Given the description of an element on the screen output the (x, y) to click on. 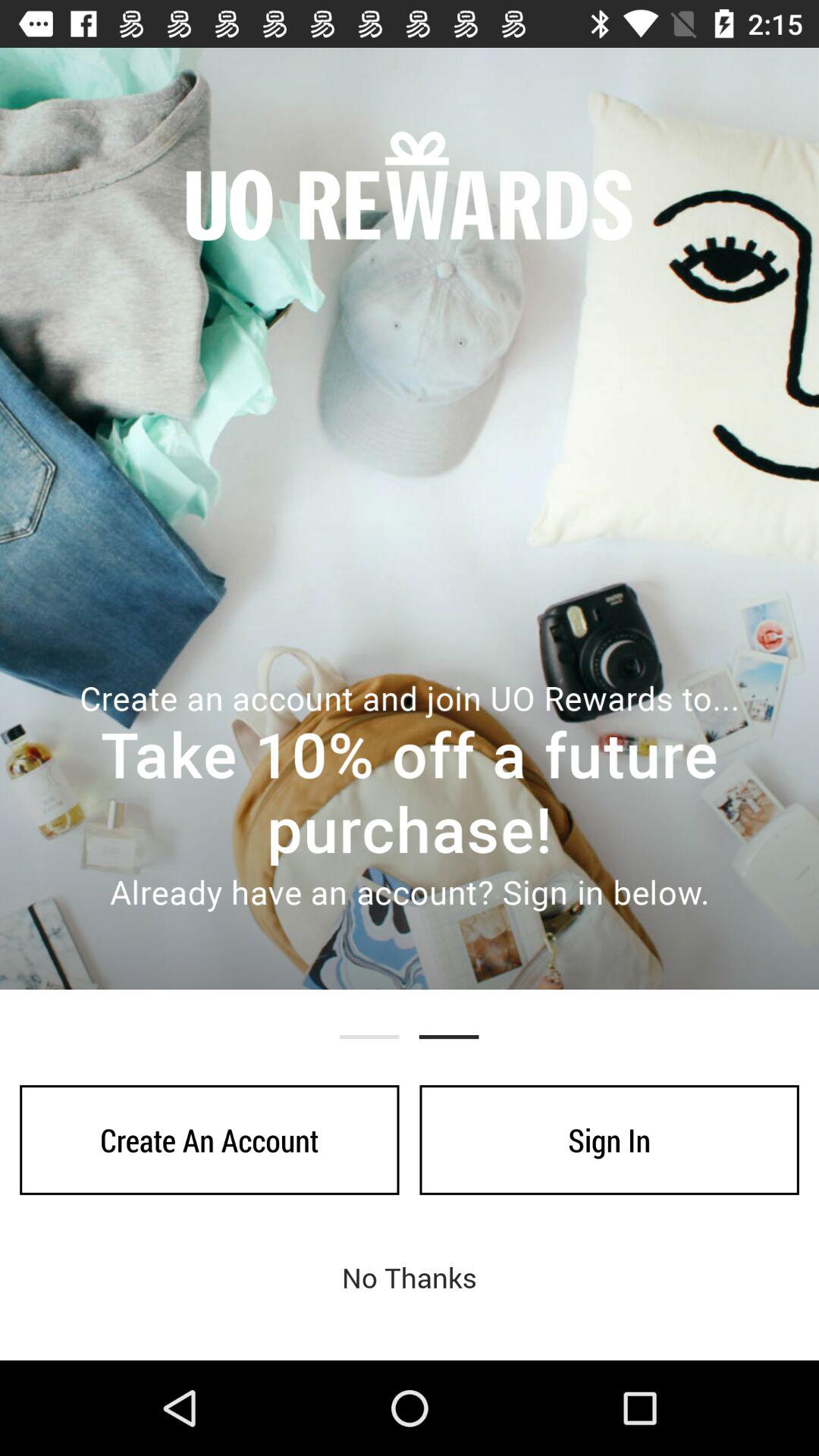
open item above the no thanks item (609, 1139)
